Given the description of an element on the screen output the (x, y) to click on. 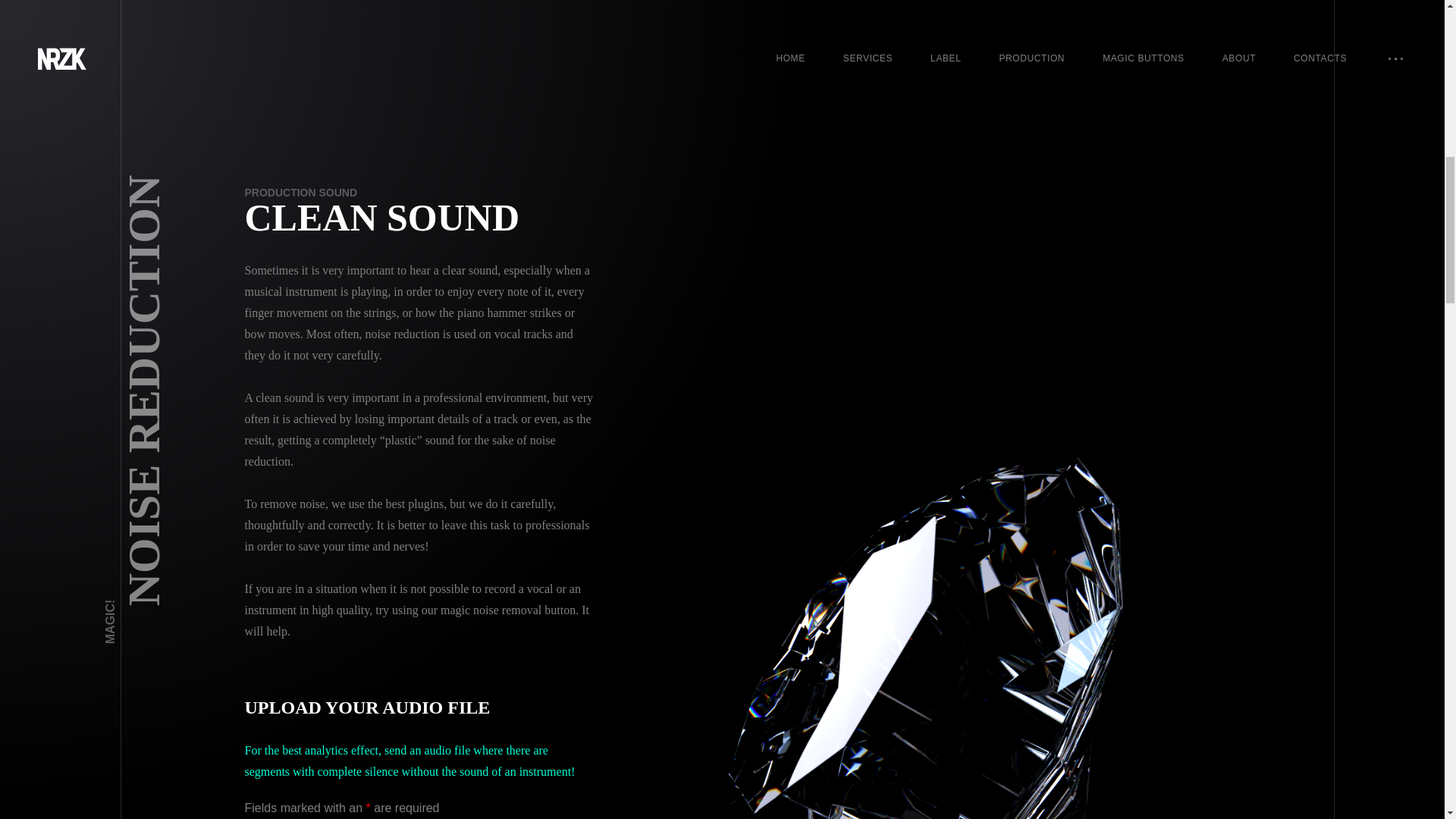
SEND AUDIO (419, 378)
